Given the description of an element on the screen output the (x, y) to click on. 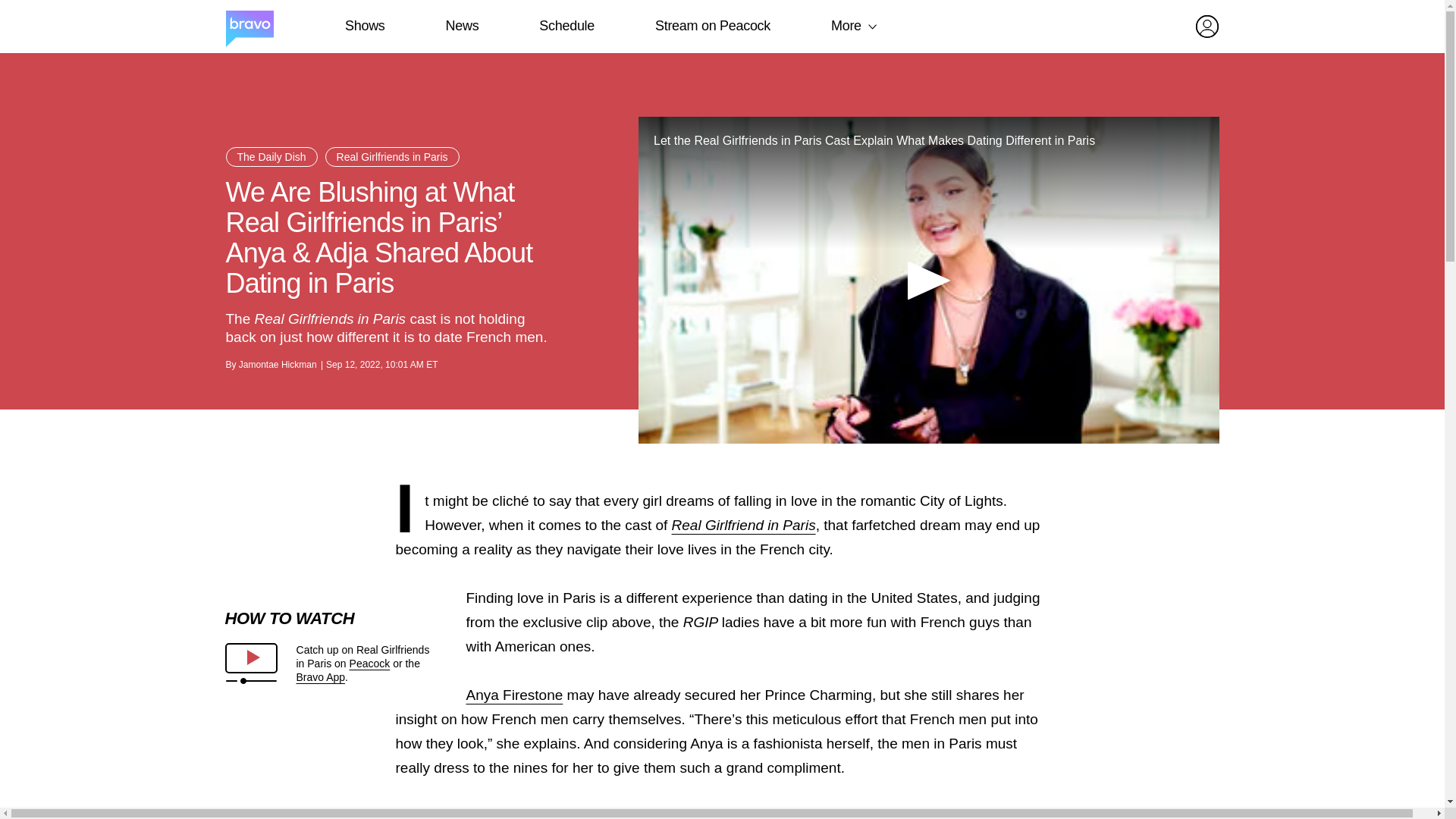
Real Girlfriends in Paris (392, 157)
The Daily Dish (271, 157)
More (846, 26)
Home (249, 26)
Schedule (566, 26)
Stream on Peacock (712, 26)
Peacock (369, 663)
Shows (363, 26)
Anya Firestone (513, 694)
Real Girlfriend in Paris (743, 524)
Real Girlfriends in Paris (743, 524)
Anya Firestone (513, 694)
News (462, 26)
Bravo App (320, 676)
